Given the description of an element on the screen output the (x, y) to click on. 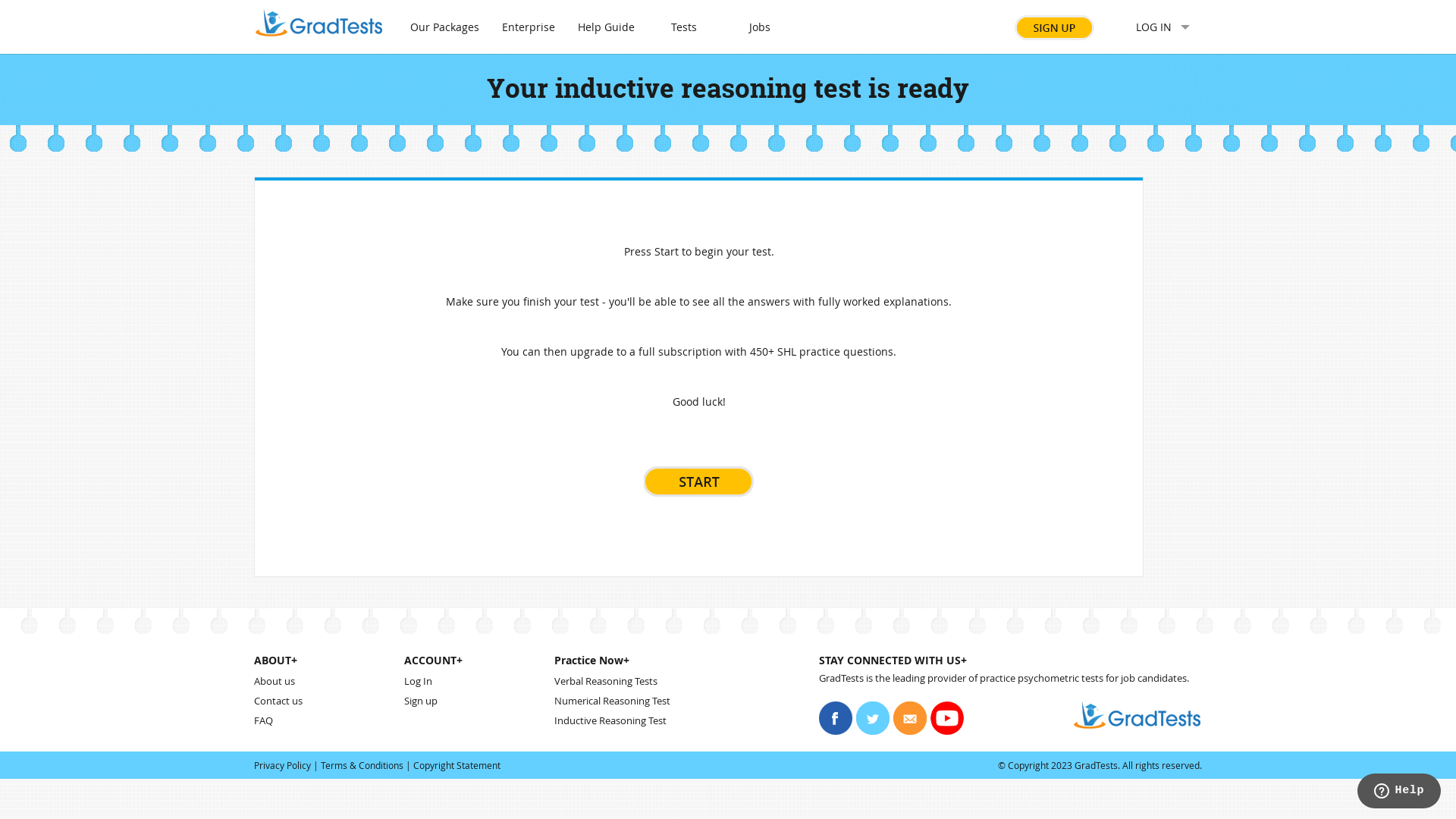
Copyright Statement Element type: text (456, 765)
Verbal Reasoning Tests Element type: text (605, 680)
Jobs Element type: text (759, 26)
Terms & Conditions Element type: text (361, 765)
FAQ Element type: text (263, 720)
Our Packages Element type: text (444, 26)
Opens a widget where you can chat to one of our agents Element type: hover (1398, 792)
Help Guide Element type: text (606, 26)
Enterprise Element type: text (528, 26)
Copyright 2023 GradTests. All rights reserved Element type: text (1103, 765)
Numerical Reasoning Test Element type: text (612, 700)
Contact us Element type: text (278, 700)
Privacy Policy Element type: text (282, 765)
LOG IN Element type: text (1153, 26)
Sign up Element type: text (420, 700)
Log In Element type: text (418, 680)
About us Element type: text (274, 680)
Inductive Reasoning Test Element type: text (610, 720)
Tests Element type: text (683, 26)
